Given the description of an element on the screen output the (x, y) to click on. 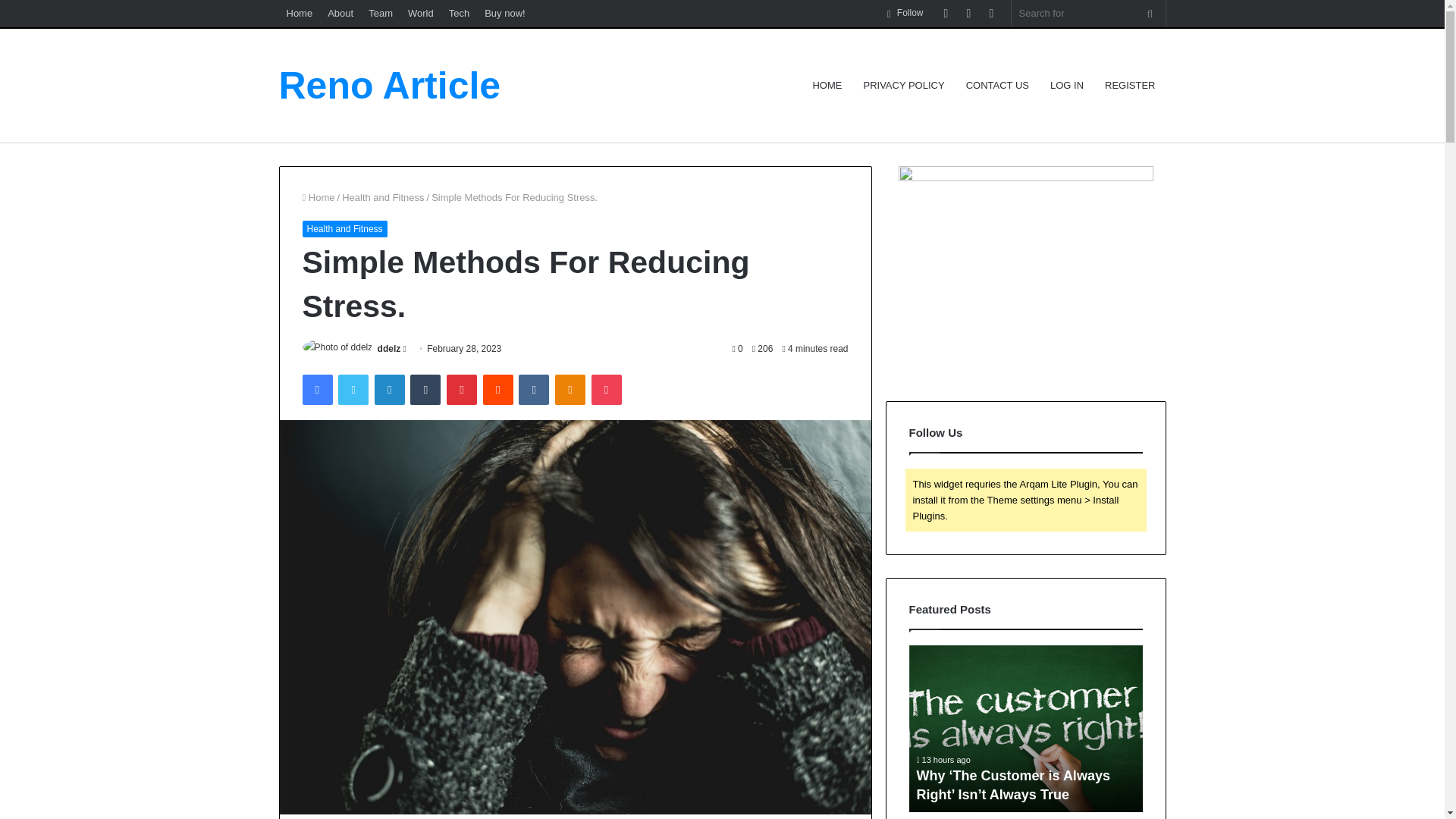
Tumblr (425, 389)
Health and Fitness (382, 197)
Follow (905, 13)
Health and Fitness (344, 228)
VKontakte (533, 389)
World (420, 13)
VKontakte (533, 389)
Team (380, 13)
Tumblr (425, 389)
Buy now! (504, 13)
